Given the description of an element on the screen output the (x, y) to click on. 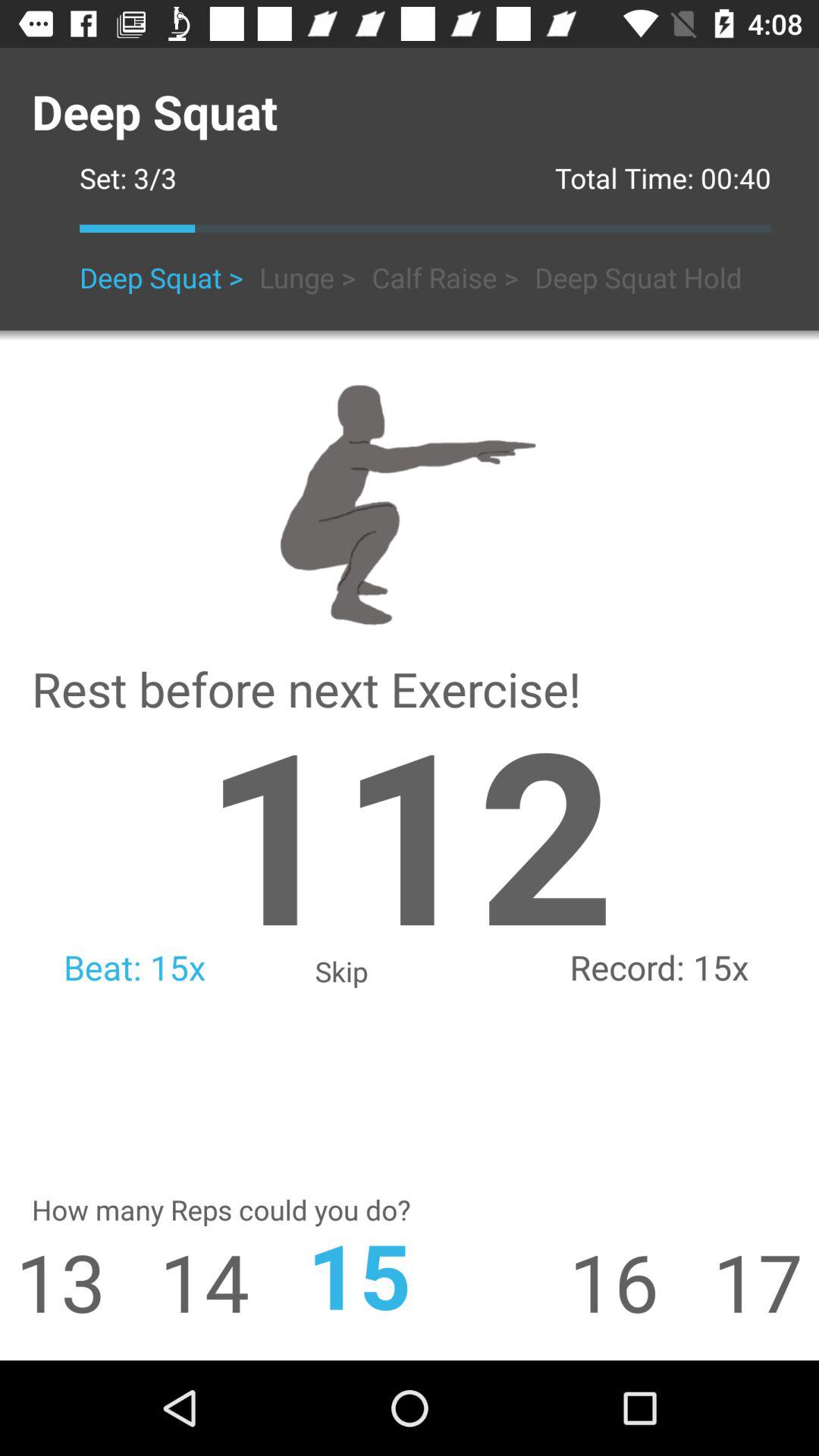
turn on the 14 icon (177, 1281)
